Given the description of an element on the screen output the (x, y) to click on. 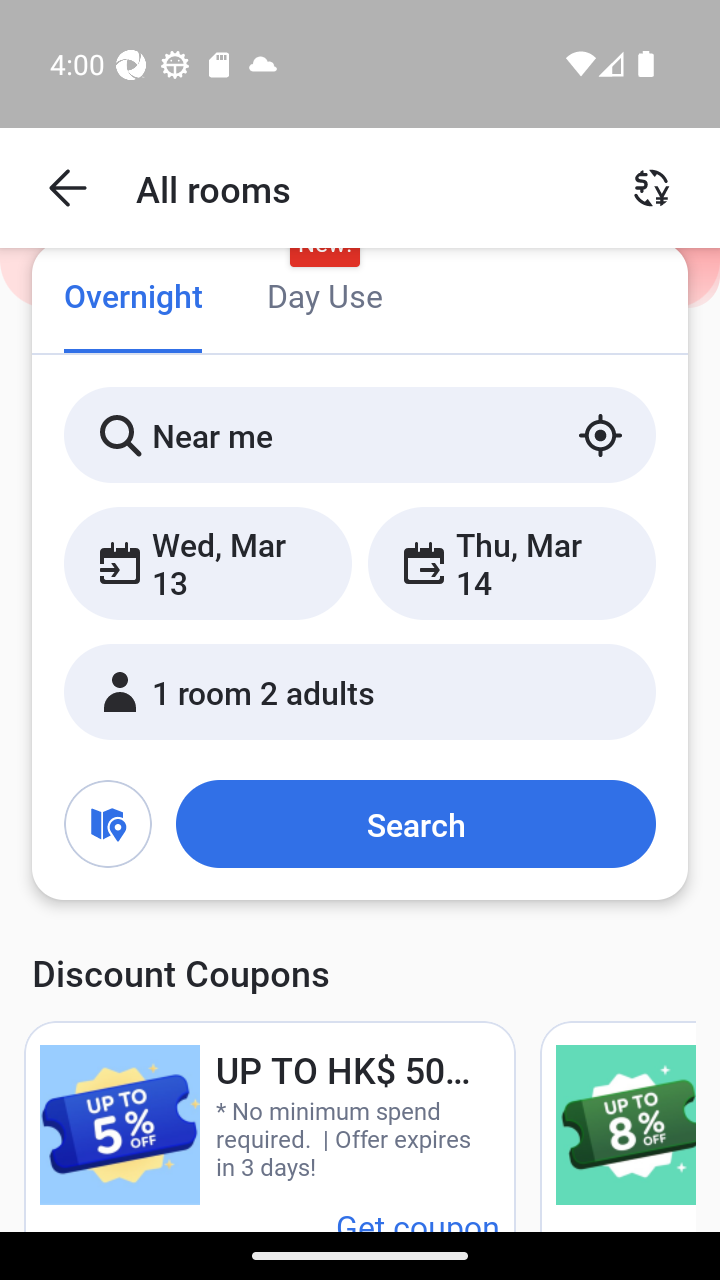
Day Use (324, 298)
Near me (359, 434)
Wed, Mar 13 (208, 562)
Thu, Mar 14 (511, 562)
1 room 2 adults (359, 691)
Search (415, 823)
